Given the description of an element on the screen output the (x, y) to click on. 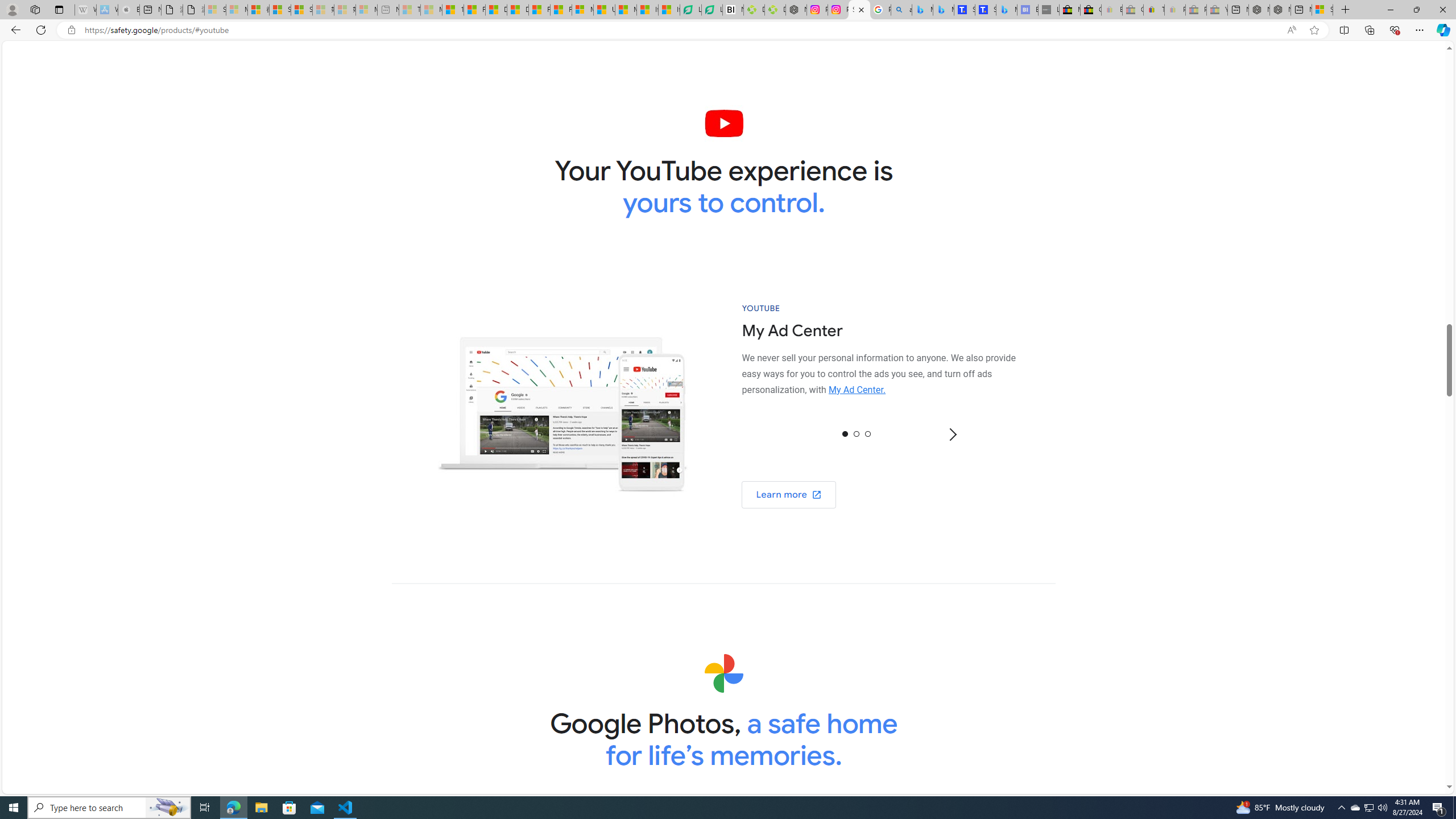
My Ad Center. (857, 389)
Safety in Our Products - Google Safety Center (859, 9)
Press Room - eBay Inc. - Sleeping (1195, 9)
LendingTree - Compare Lenders (712, 9)
0 (845, 433)
